Given the description of an element on the screen output the (x, y) to click on. 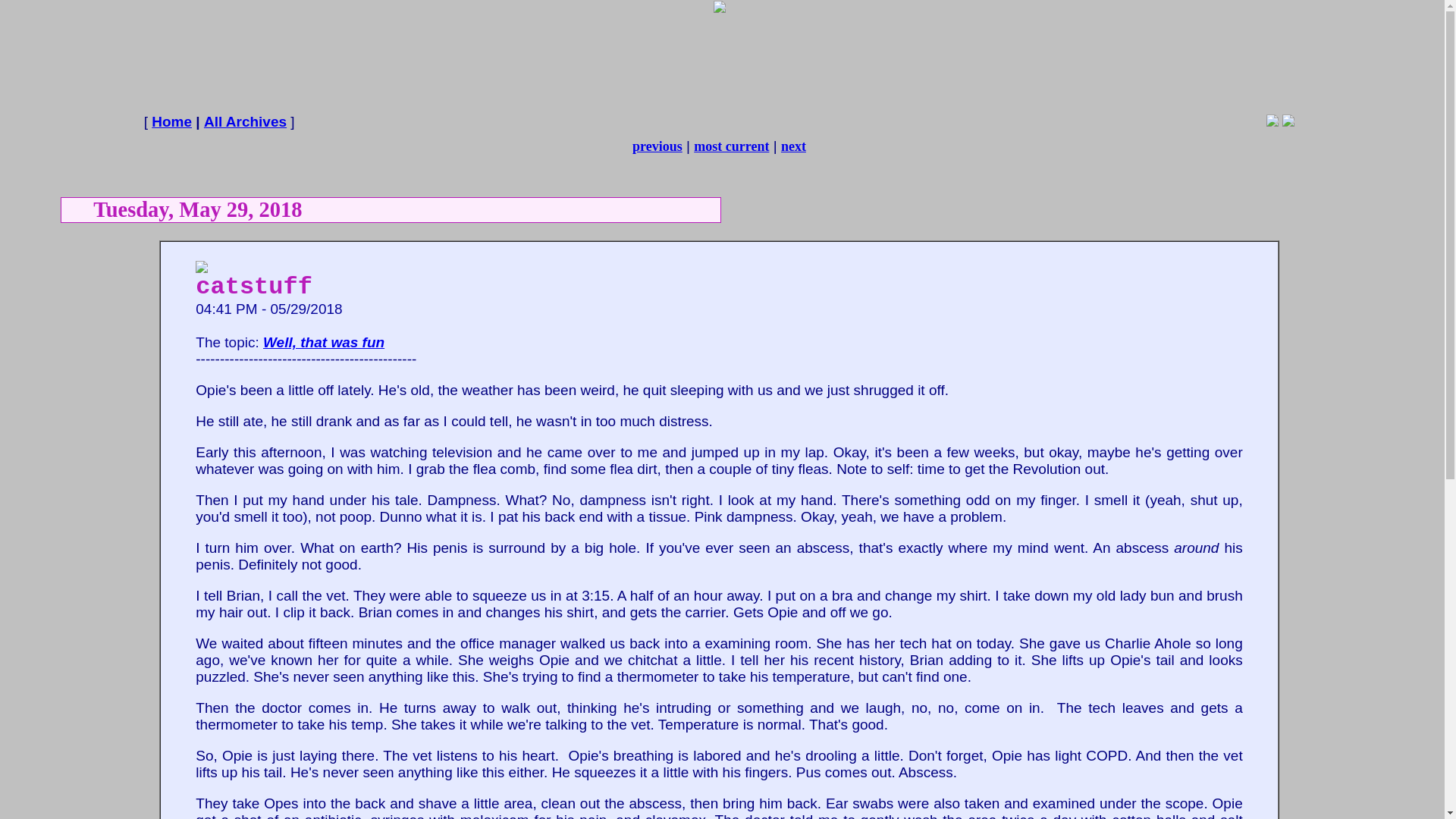
most current (731, 145)
previous (656, 145)
next (793, 145)
Home (171, 121)
All Archives (244, 121)
Well, that was fun (323, 342)
